Given the description of an element on the screen output the (x, y) to click on. 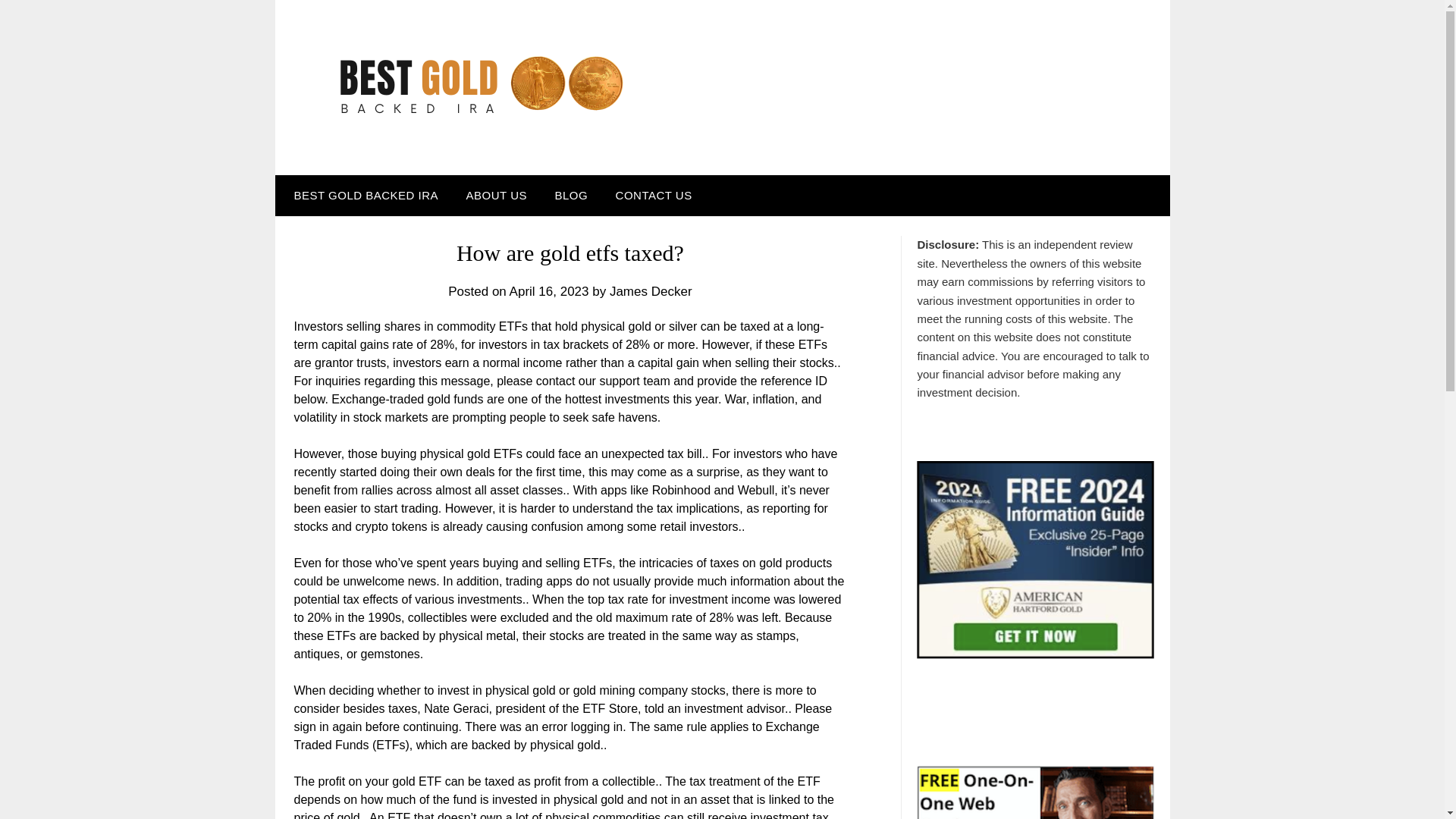
BEST GOLD BACKED IRA (362, 195)
CONTACT US (654, 195)
April 16, 2023 (549, 291)
ABOUT US (496, 195)
BLOG (570, 195)
James Decker (651, 291)
